Given the description of an element on the screen output the (x, y) to click on. 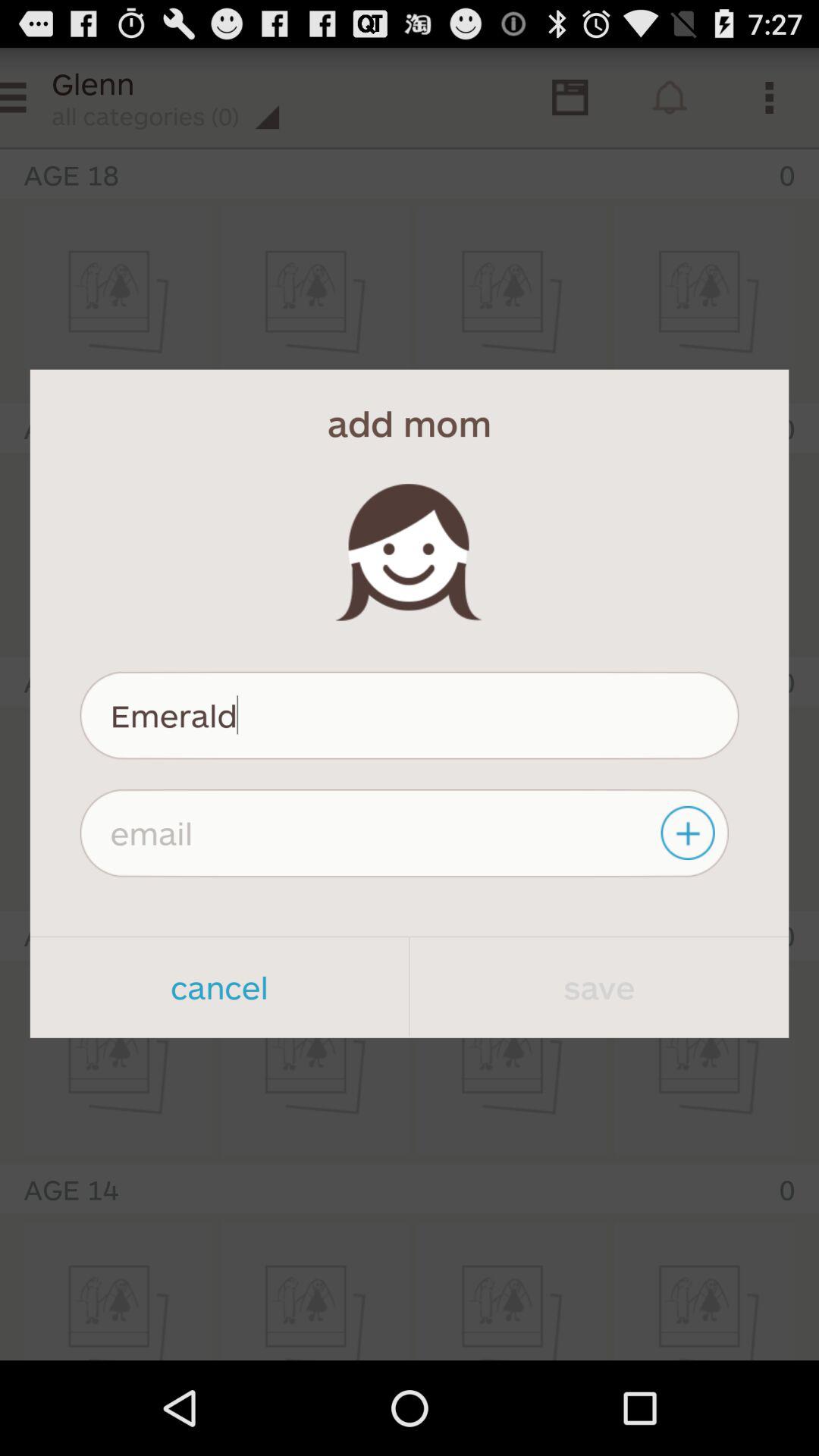
swipe to the emerald icon (409, 715)
